Given the description of an element on the screen output the (x, y) to click on. 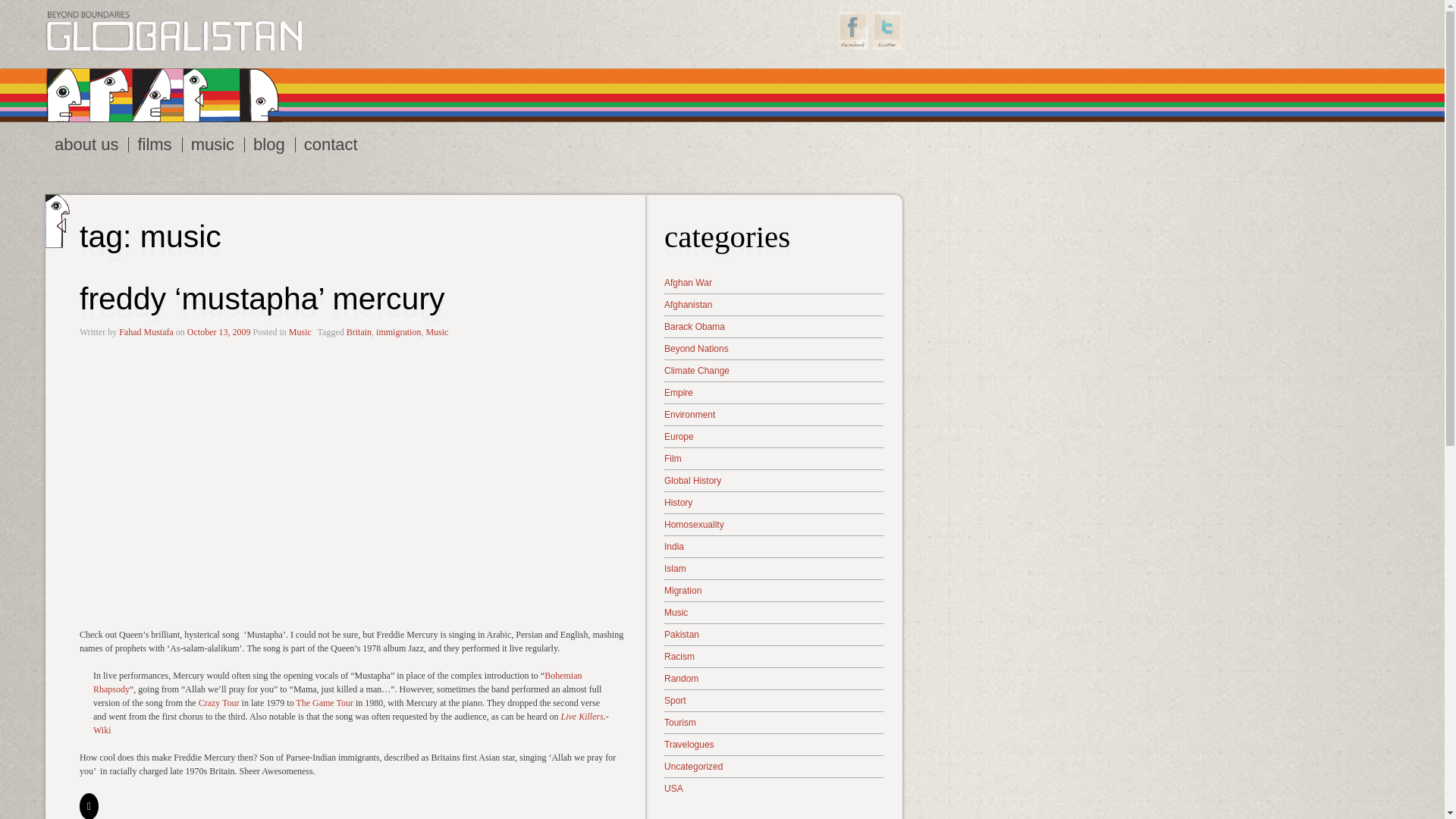
Barack Obama (773, 326)
immigration (397, 331)
Afghanistan (773, 304)
about us (86, 144)
Afghan War (773, 282)
Crazy Tour (219, 702)
blog (269, 144)
Live Killers (582, 716)
Bohemian Rhapsody (336, 682)
The Game Tour (324, 702)
Beyond Nations (773, 347)
Empire (773, 391)
The Game Tour (324, 702)
Environment (773, 414)
contact (331, 144)
